Given the description of an element on the screen output the (x, y) to click on. 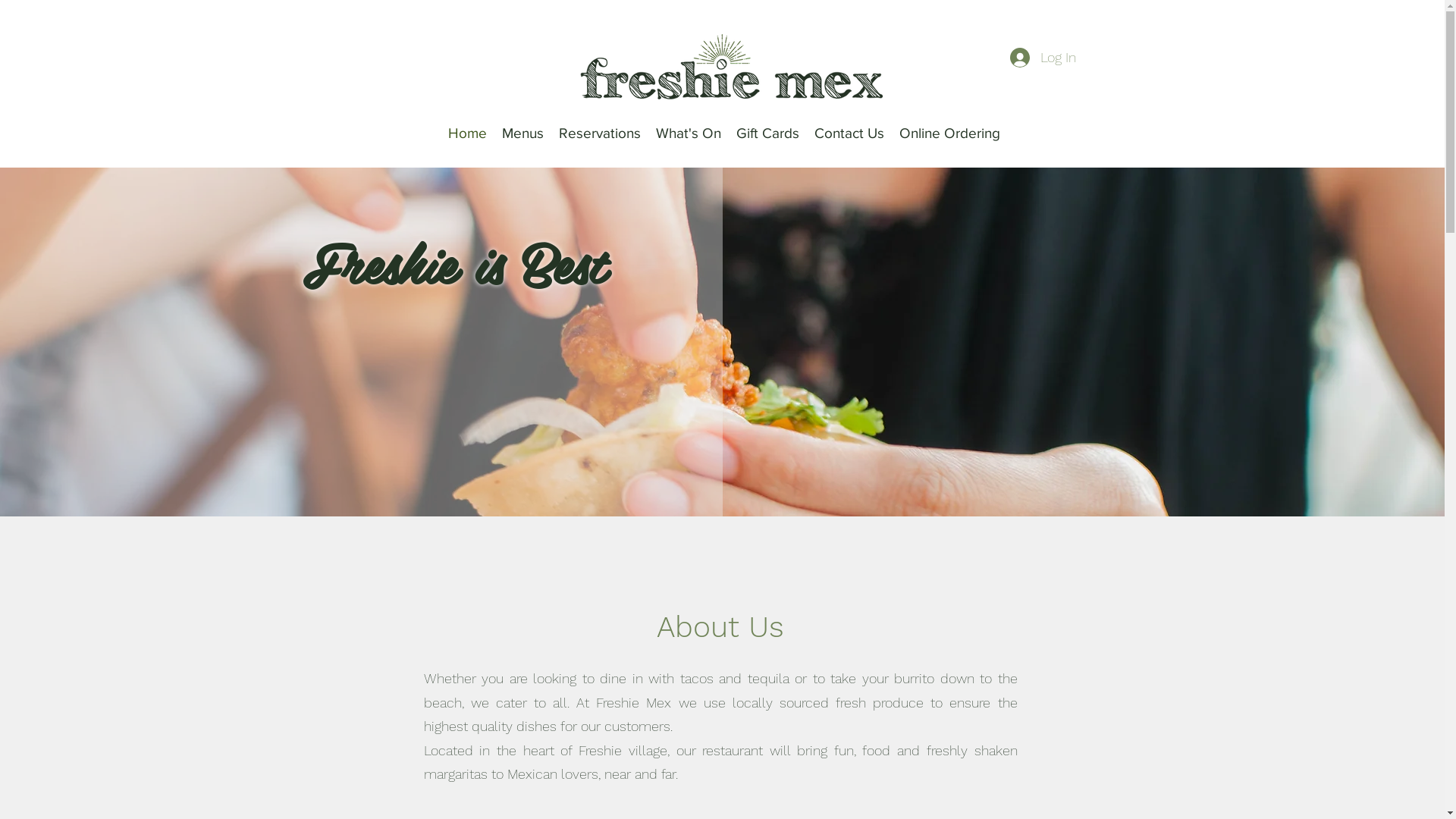
Reservations Element type: text (599, 133)
Online Ordering Element type: text (949, 133)
Contact Us Element type: text (848, 133)
Gift Cards Element type: text (767, 133)
What's On Element type: text (688, 133)
Home Element type: text (467, 133)
Log In Element type: text (1042, 57)
Menus Element type: text (522, 133)
